Given the description of an element on the screen output the (x, y) to click on. 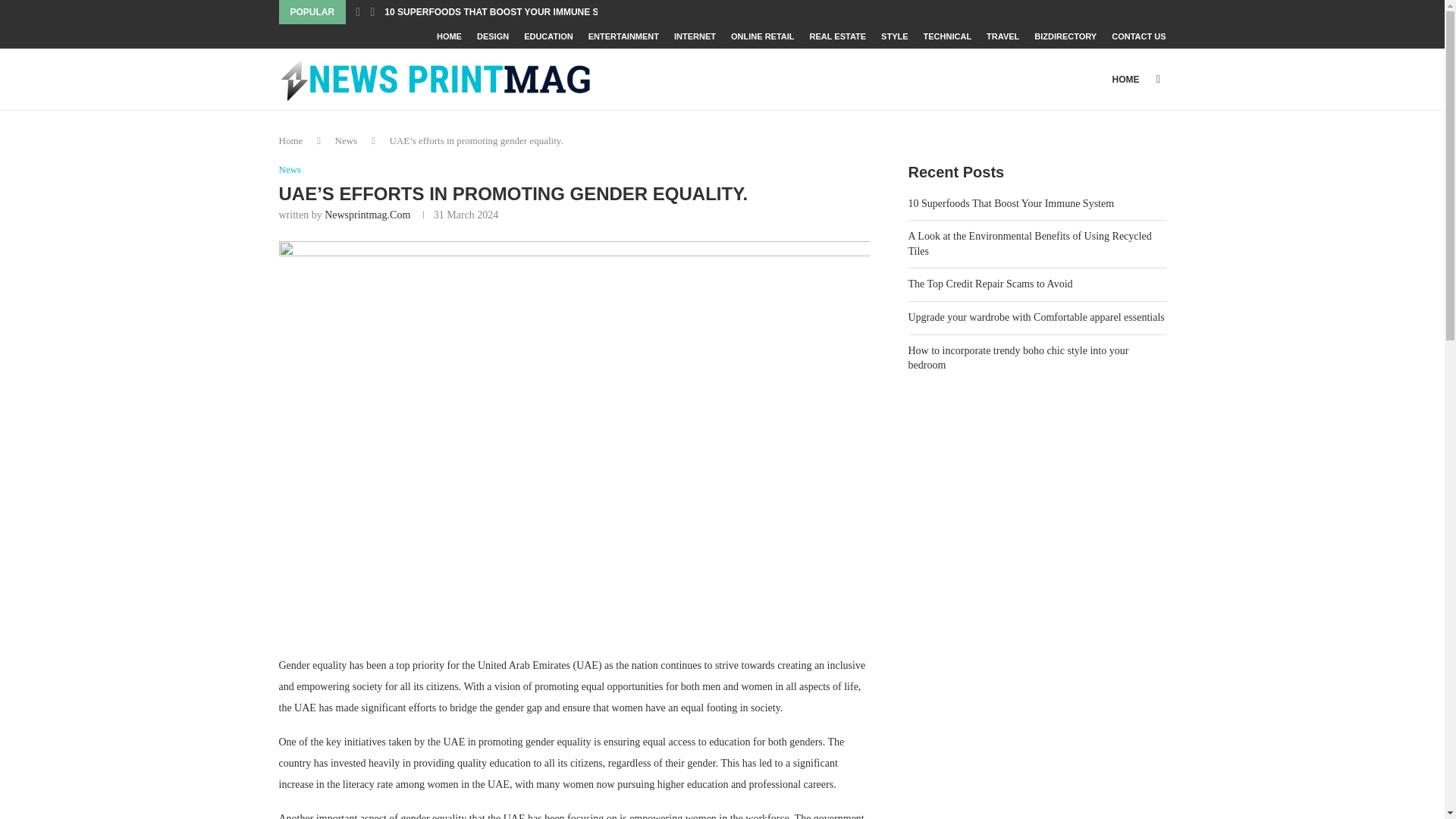
INTERNET (695, 36)
DESIGN (492, 36)
CONTACT US (1139, 36)
BIZDIRECTORY (1064, 36)
Newsprintmag.Com (367, 214)
Home (290, 140)
EDUCATION (548, 36)
News (290, 169)
ONLINE RETAIL (762, 36)
